Given the description of an element on the screen output the (x, y) to click on. 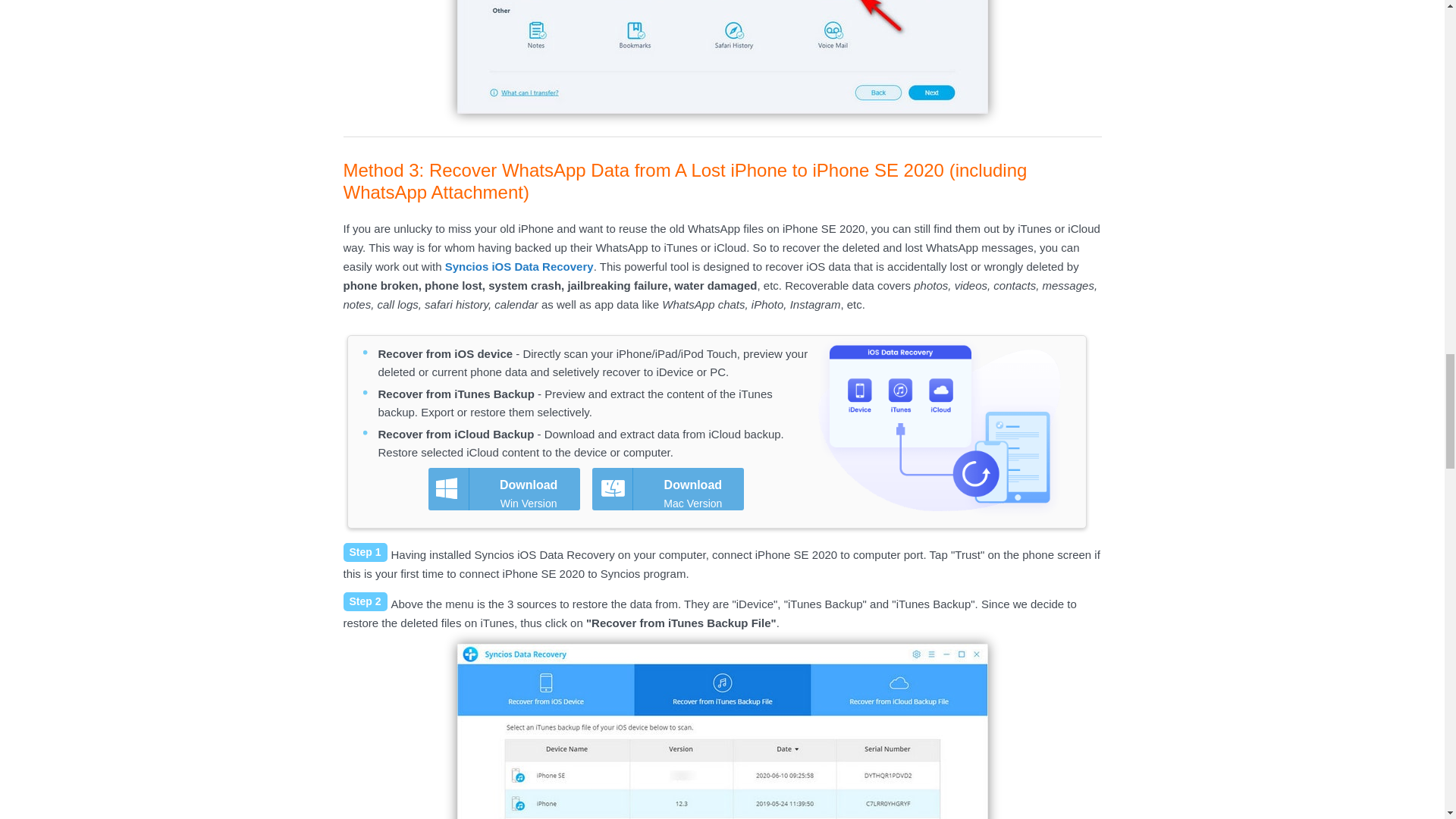
Syncios iOS Data Recovery (519, 266)
